Given the description of an element on the screen output the (x, y) to click on. 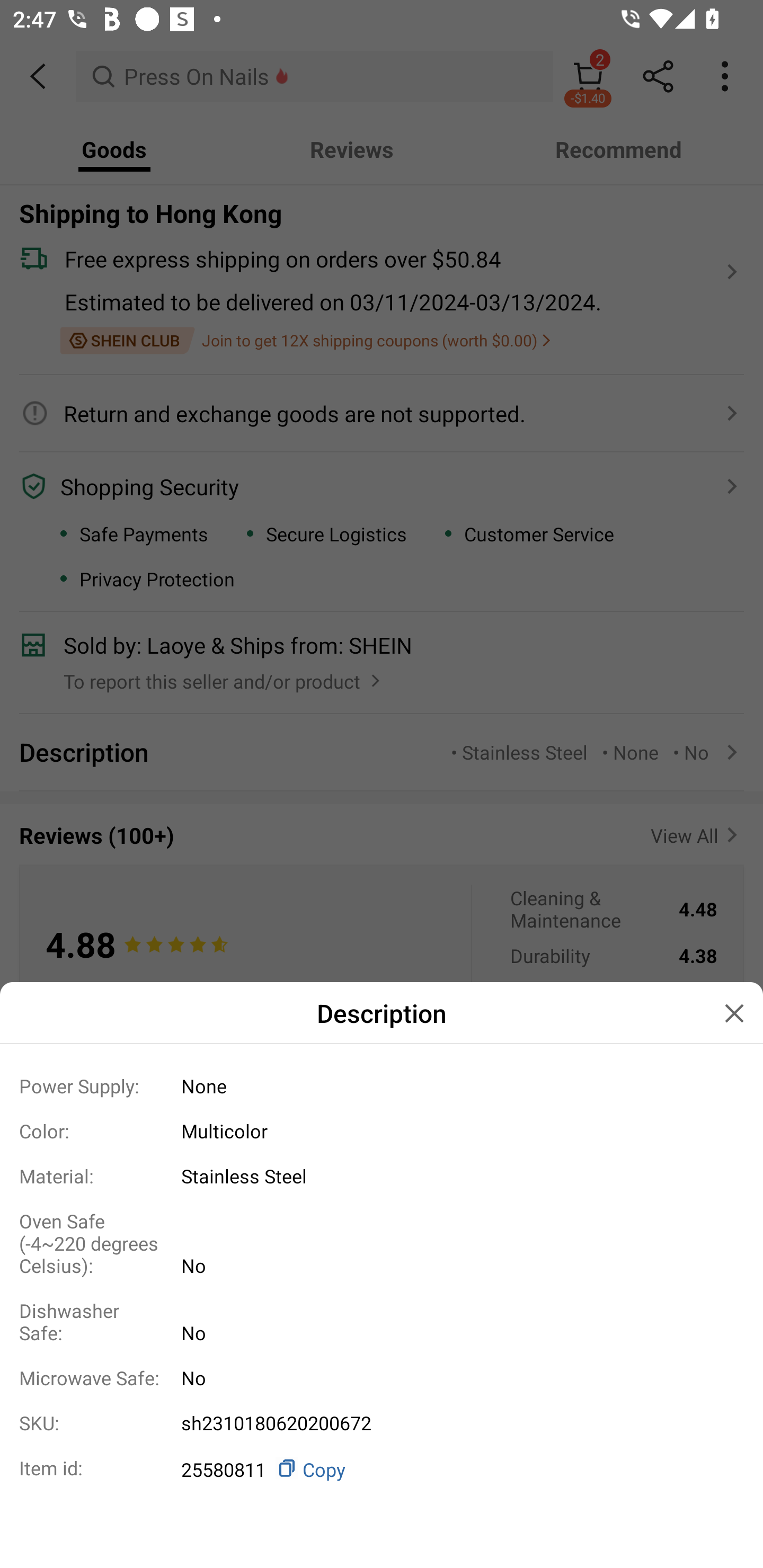
Close (734, 1012)
Power Supply: None (381, 1085)
None (455, 1085)
Color: Multicolor (381, 1130)
Multicolor (455, 1130)
Material: Stainless Steel (381, 1174)
Stainless Steel (455, 1175)
Oven Safe (-4~220 degrees Celsius): No (381, 1242)
No (455, 1264)
Dishwasher Safe: No (381, 1320)
No (455, 1332)
Microwave Safe: No (381, 1377)
No (455, 1377)
SKU: sh2310180620200672 (381, 1422)
sh2310180620200672 (455, 1422)
Item id: 25580811    Copy (381, 1468)
25580811    Copy (455, 1468)
